Given the description of an element on the screen output the (x, y) to click on. 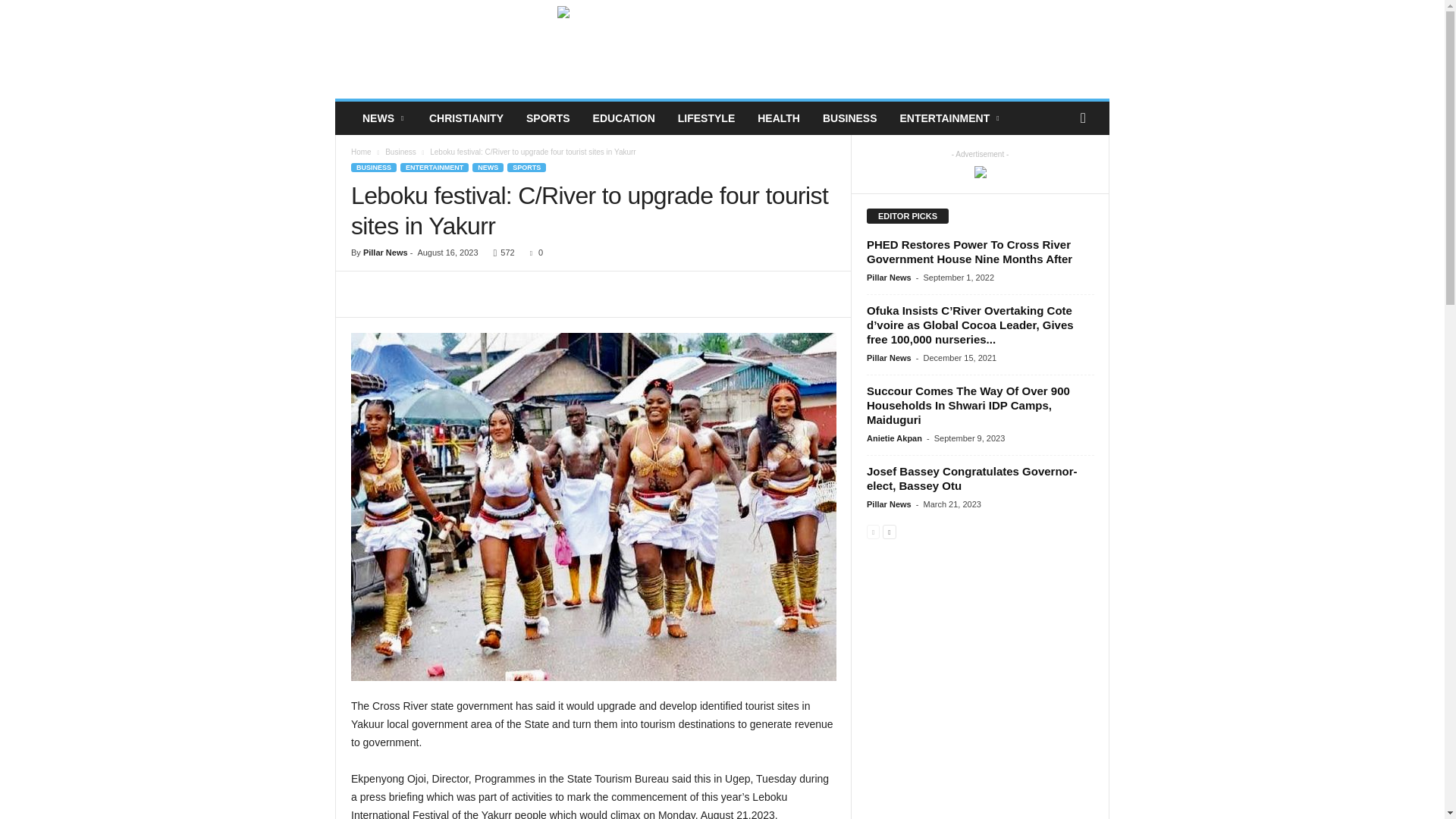
EDUCATION (623, 118)
View all posts in Business (400, 152)
BUSINESS (849, 118)
SPORTS (547, 118)
CHRISTIANITY (466, 118)
LIFESTYLE (705, 118)
Pillar Today (437, 48)
HEALTH (777, 118)
NEWS (383, 118)
